Given the description of an element on the screen output the (x, y) to click on. 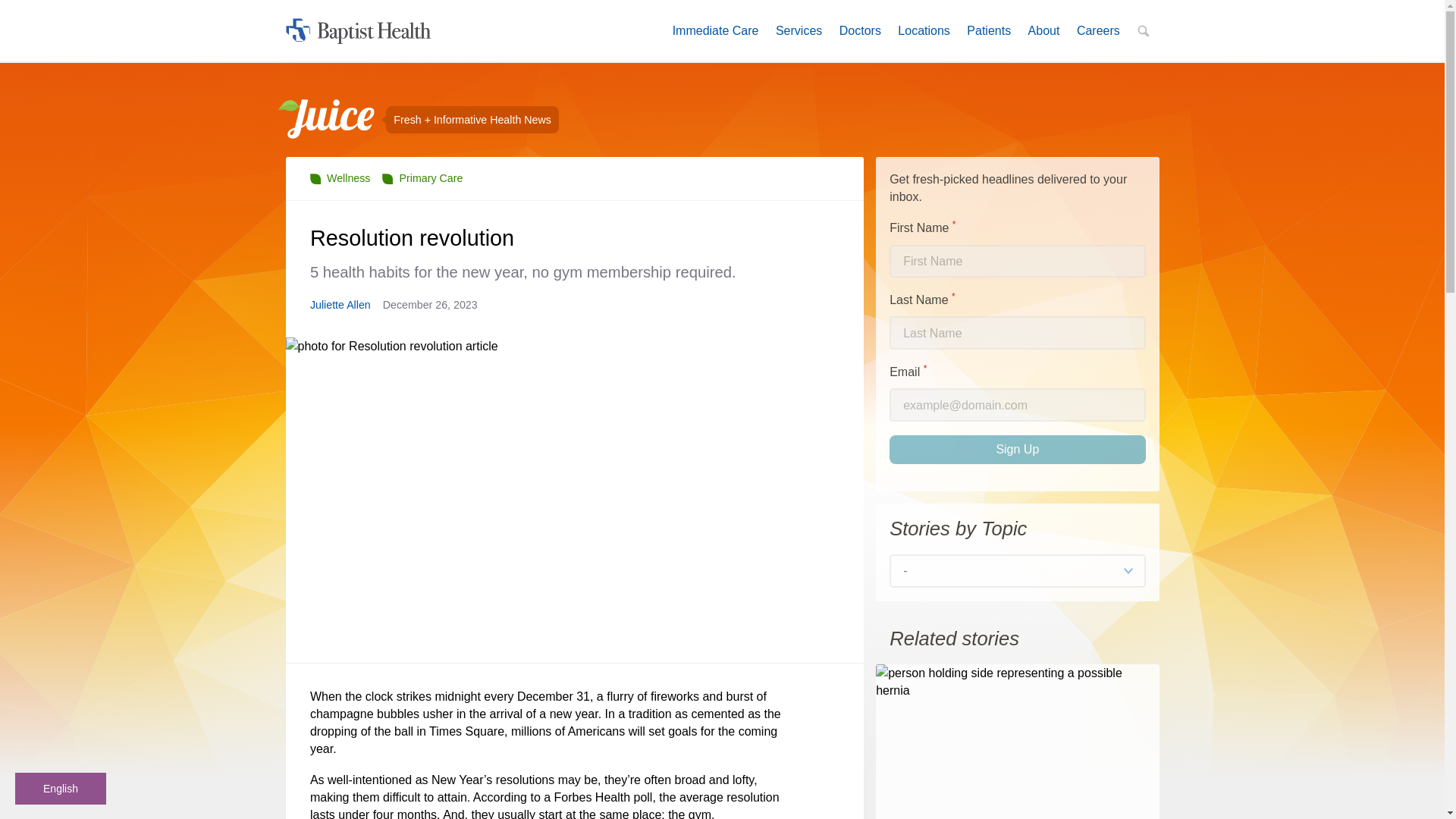
Last Name (1016, 332)
First Name (1016, 260)
EmailAddress (1016, 404)
Home: Baptist Health (860, 30)
Primary Care (1098, 30)
Click to select juice category (357, 30)
Sign Up (422, 177)
Skip to main content (1016, 571)
Sign Up (1016, 449)
